Given the description of an element on the screen output the (x, y) to click on. 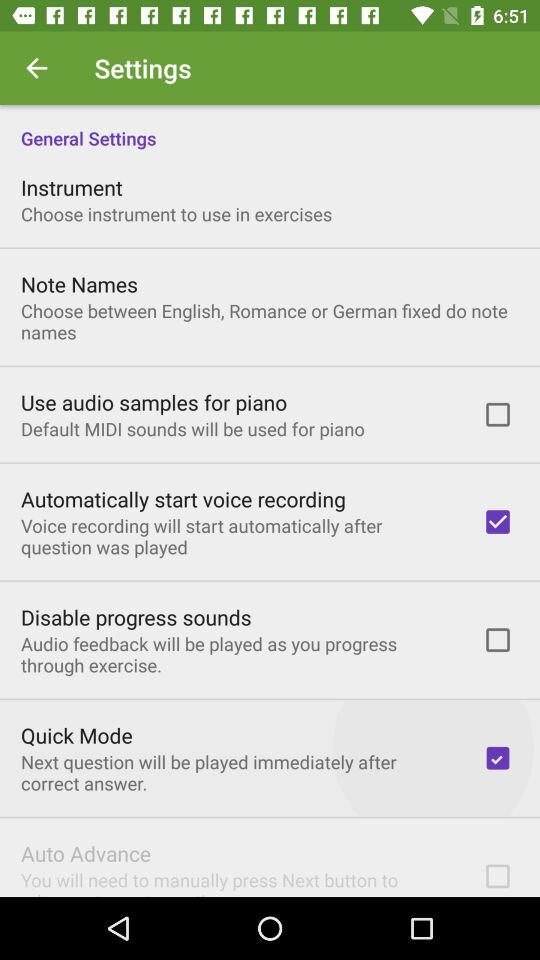
turn on the icon below the voice recording will (136, 617)
